Given the description of an element on the screen output the (x, y) to click on. 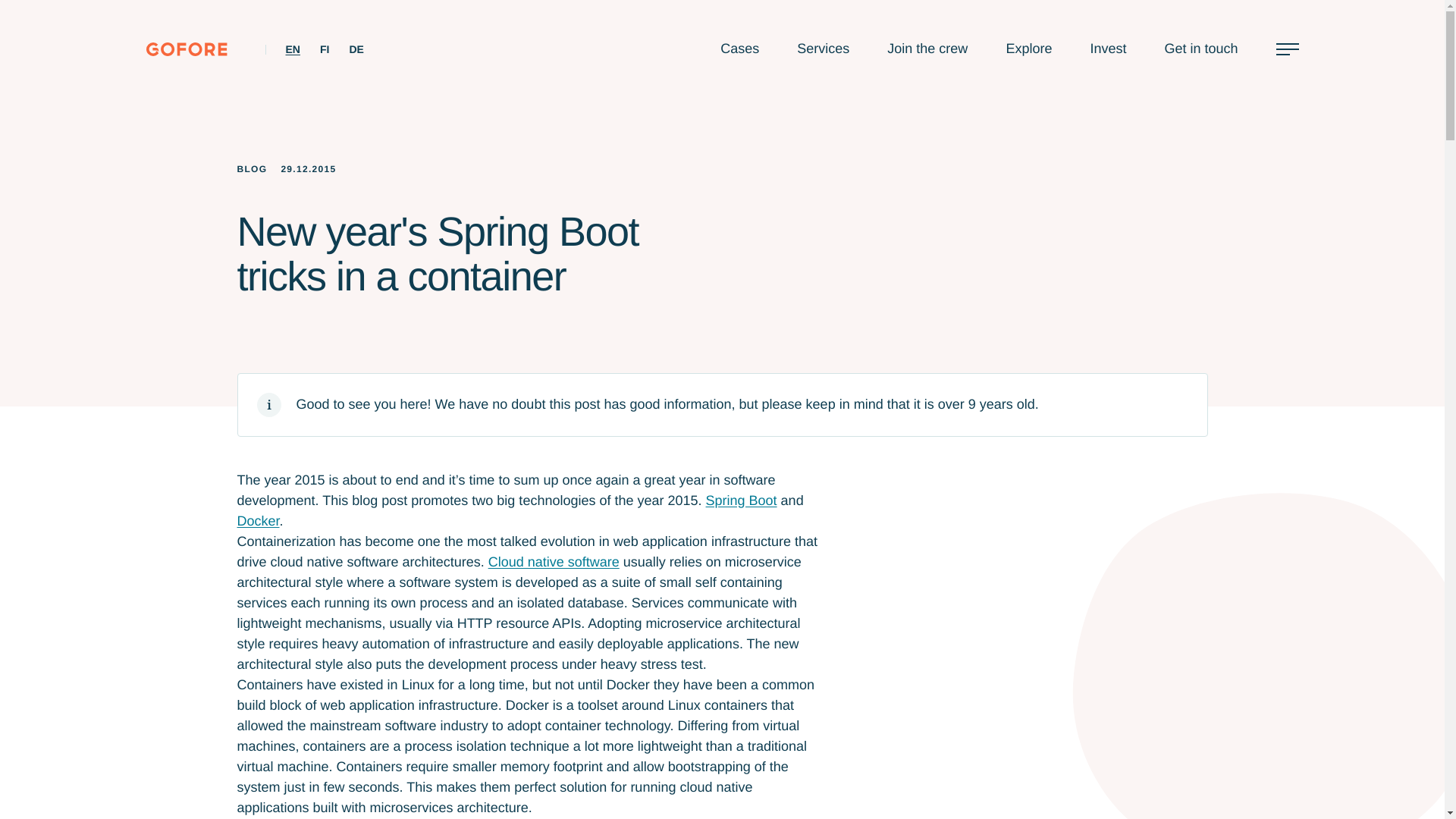
Spring Boot (741, 500)
Join the crew (927, 49)
Cases (739, 49)
Invest (1107, 49)
DE (355, 49)
Cloud Native Transformation (553, 561)
EN (292, 49)
Docker (257, 520)
Gofore (186, 49)
Get in touch (1200, 49)
Explore (1028, 49)
Services (822, 49)
